Given the description of an element on the screen output the (x, y) to click on. 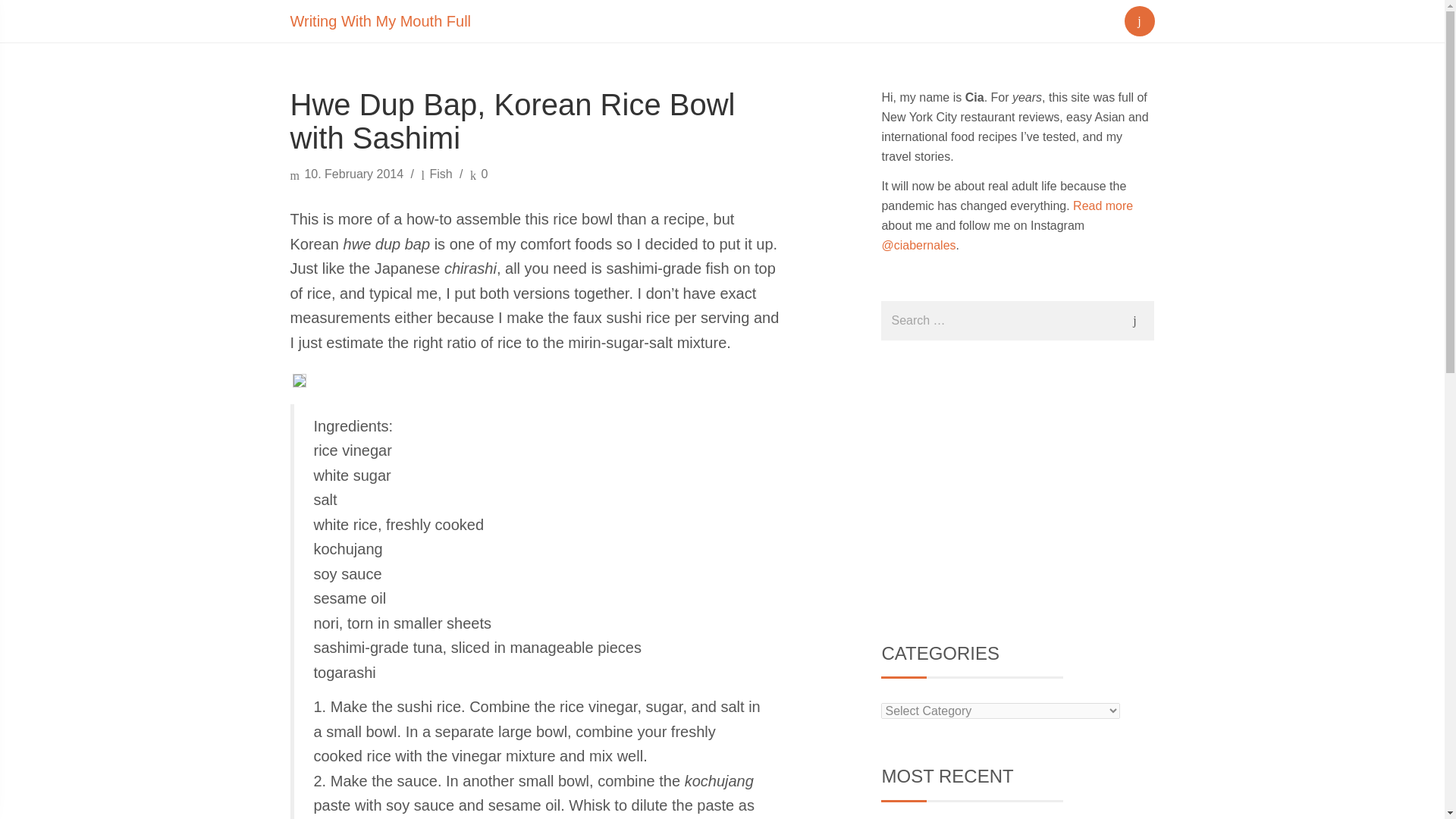
Hwe Dup Bap, Korean Rice Bowl with Sashimi photos (298, 379)
Writing With My Mouth Full (381, 21)
Fish (440, 173)
Search (1134, 320)
Search (18, 18)
Search (1139, 18)
Read more (1102, 205)
Writing With My Mouth Full (381, 21)
Search (1134, 320)
Search (1134, 320)
Search (1139, 18)
